Given the description of an element on the screen output the (x, y) to click on. 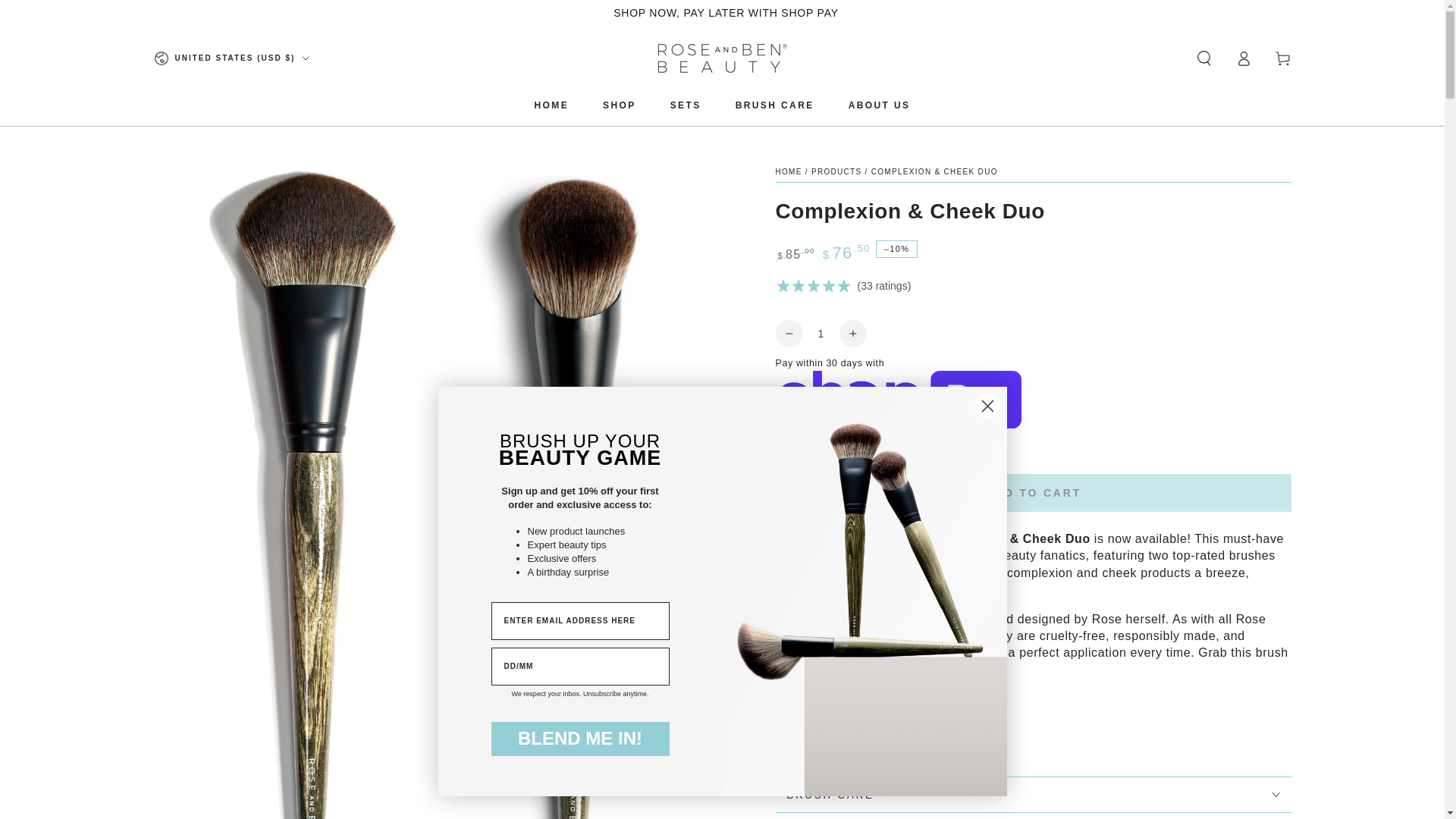
Back to the frontpage (788, 171)
SKIP TO CONTENT (67, 14)
ABOUT US (879, 104)
Log in (1243, 58)
SKIP TO PRODUCT INFORMATION (243, 161)
1 (820, 333)
BRUSH CARE (774, 104)
SETS (686, 104)
HOME (550, 104)
SHOP (619, 104)
View all products (835, 171)
